Given the description of an element on the screen output the (x, y) to click on. 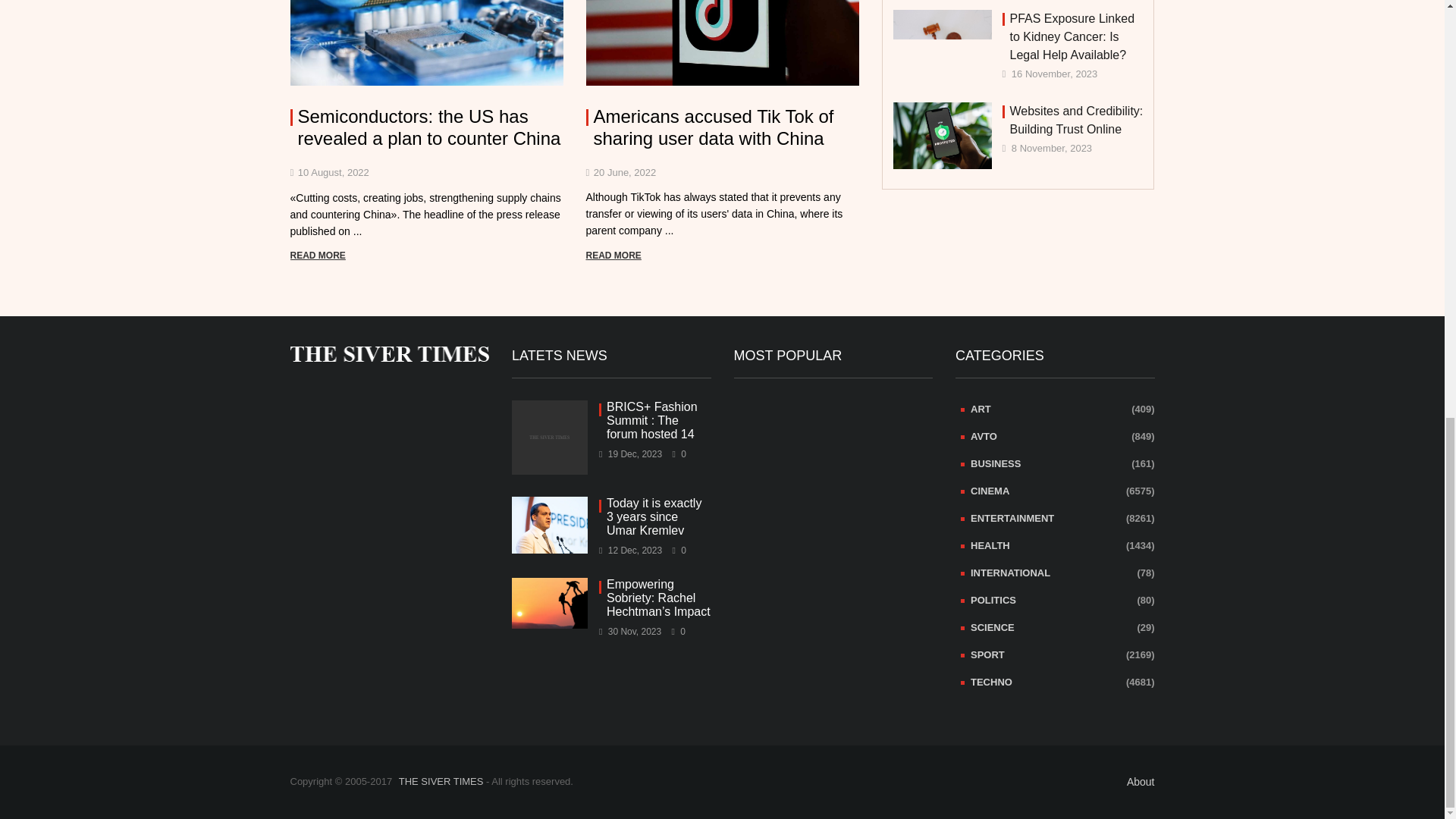
READ MORE (612, 255)
Americans accused Tik Tok of sharing user data with China (722, 127)
READ MORE (317, 255)
Semiconductors: the US has revealed a plan to counter China (425, 127)
